Given the description of an element on the screen output the (x, y) to click on. 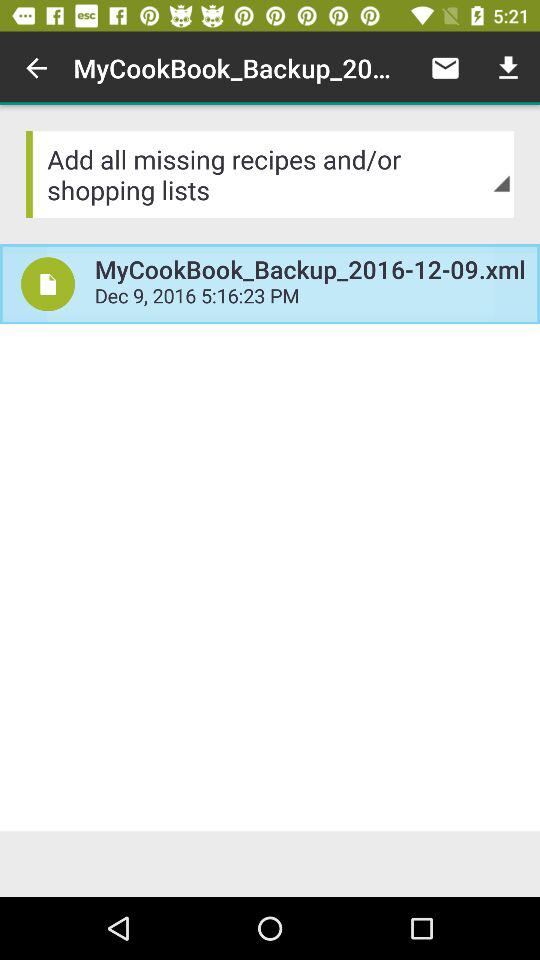
turn on icon to the left of mycookbook_backup_2016 12 09 item (36, 67)
